Given the description of an element on the screen output the (x, y) to click on. 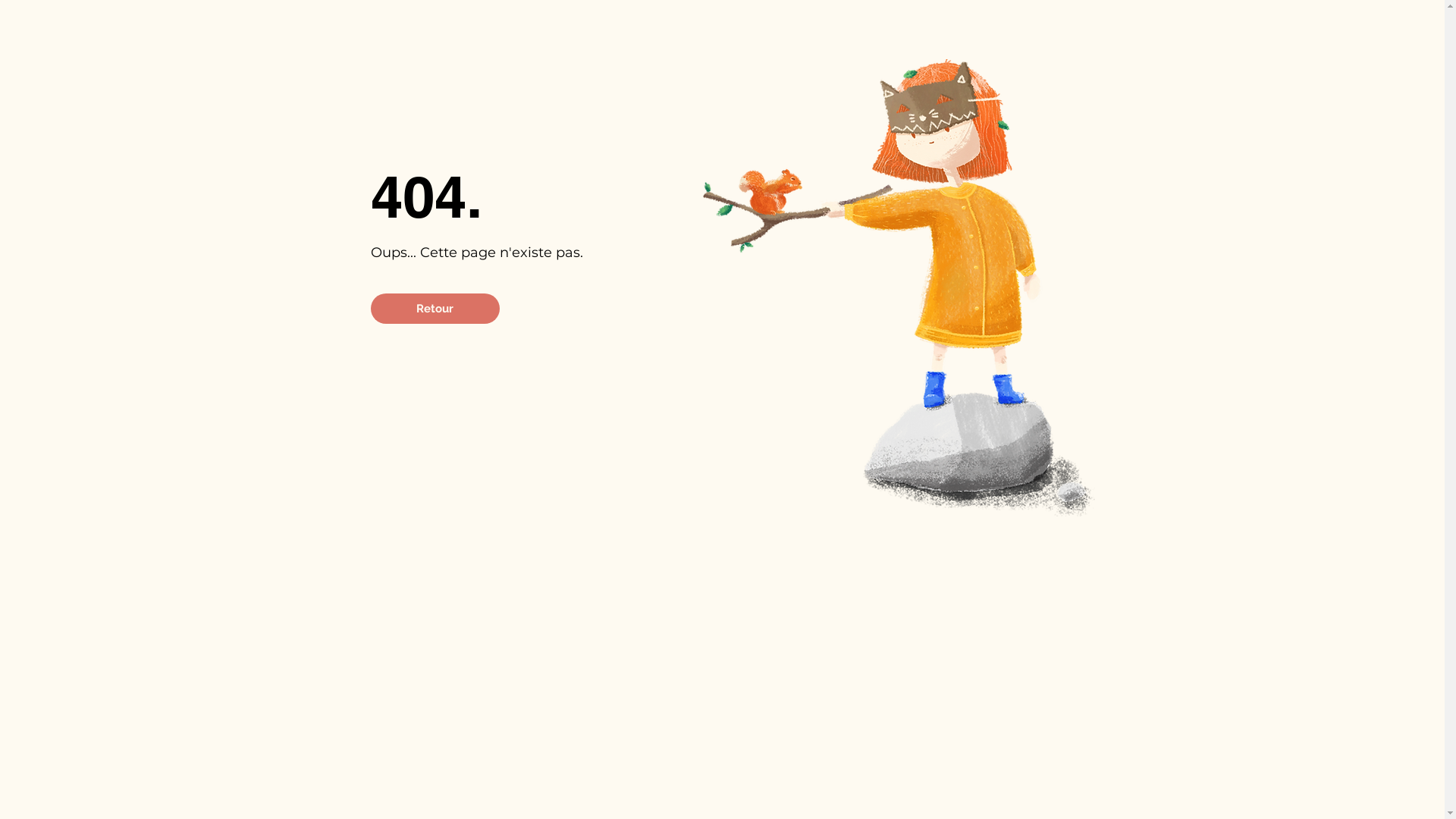
Retour Element type: text (434, 308)
